Given the description of an element on the screen output the (x, y) to click on. 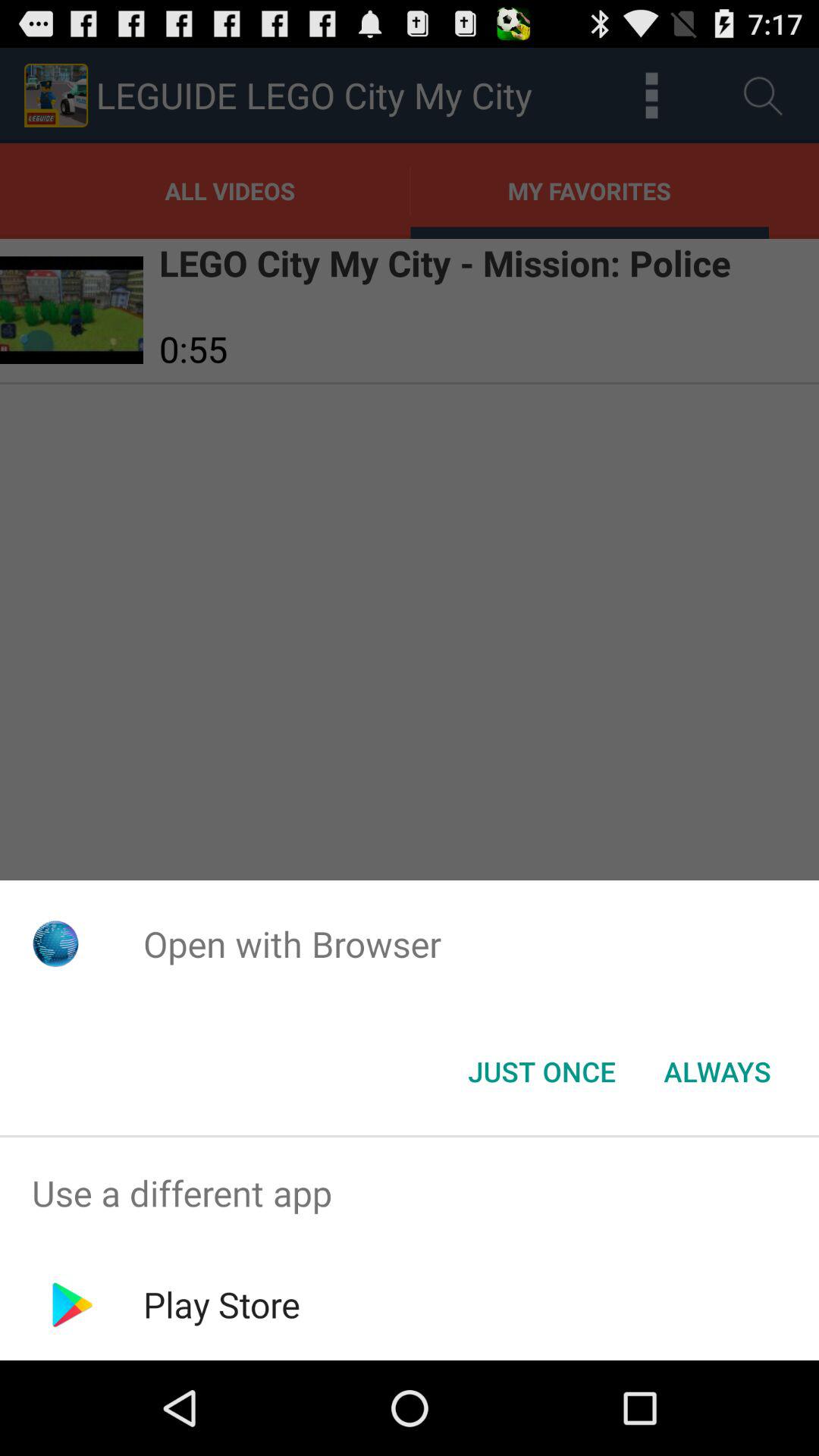
turn on the item below open with browser icon (541, 1071)
